Given the description of an element on the screen output the (x, y) to click on. 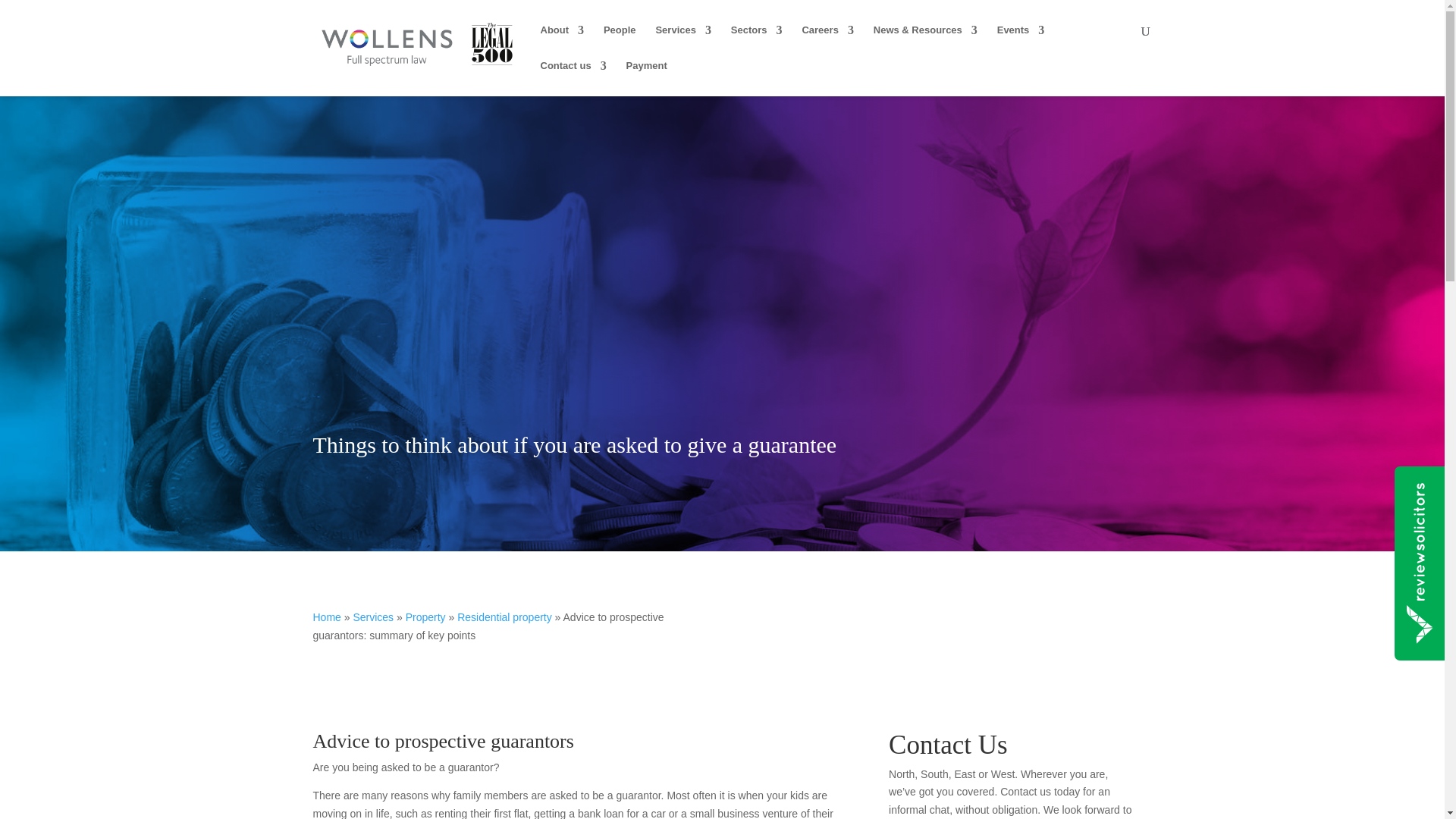
People (620, 42)
Careers (827, 42)
Sectors (756, 42)
Services (683, 42)
About (561, 42)
